Given the description of an element on the screen output the (x, y) to click on. 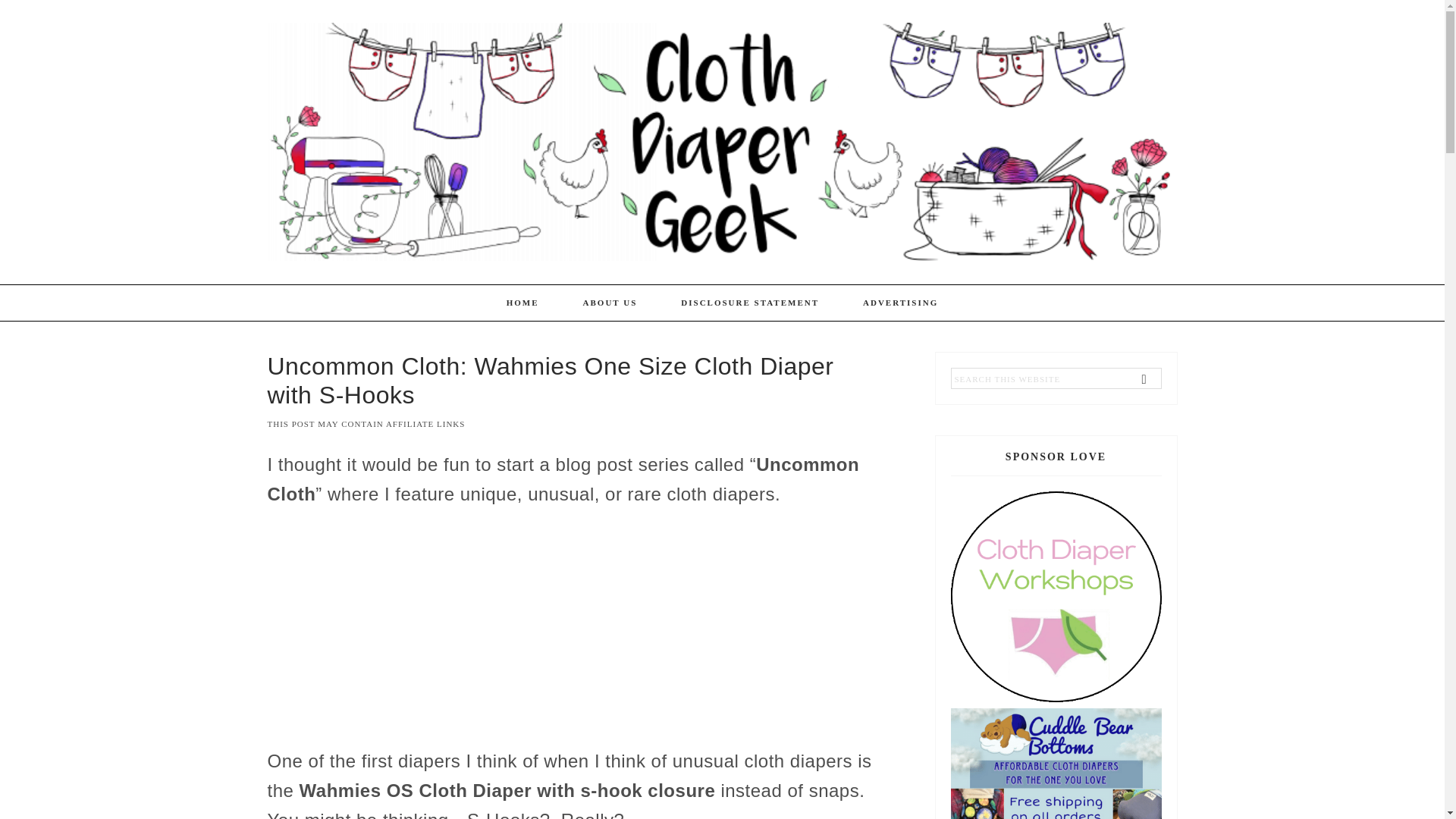
DISCLOSURE STATEMENT (750, 302)
HOME (522, 302)
ADVERTISING (900, 302)
ABOUT US (610, 302)
